Given the description of an element on the screen output the (x, y) to click on. 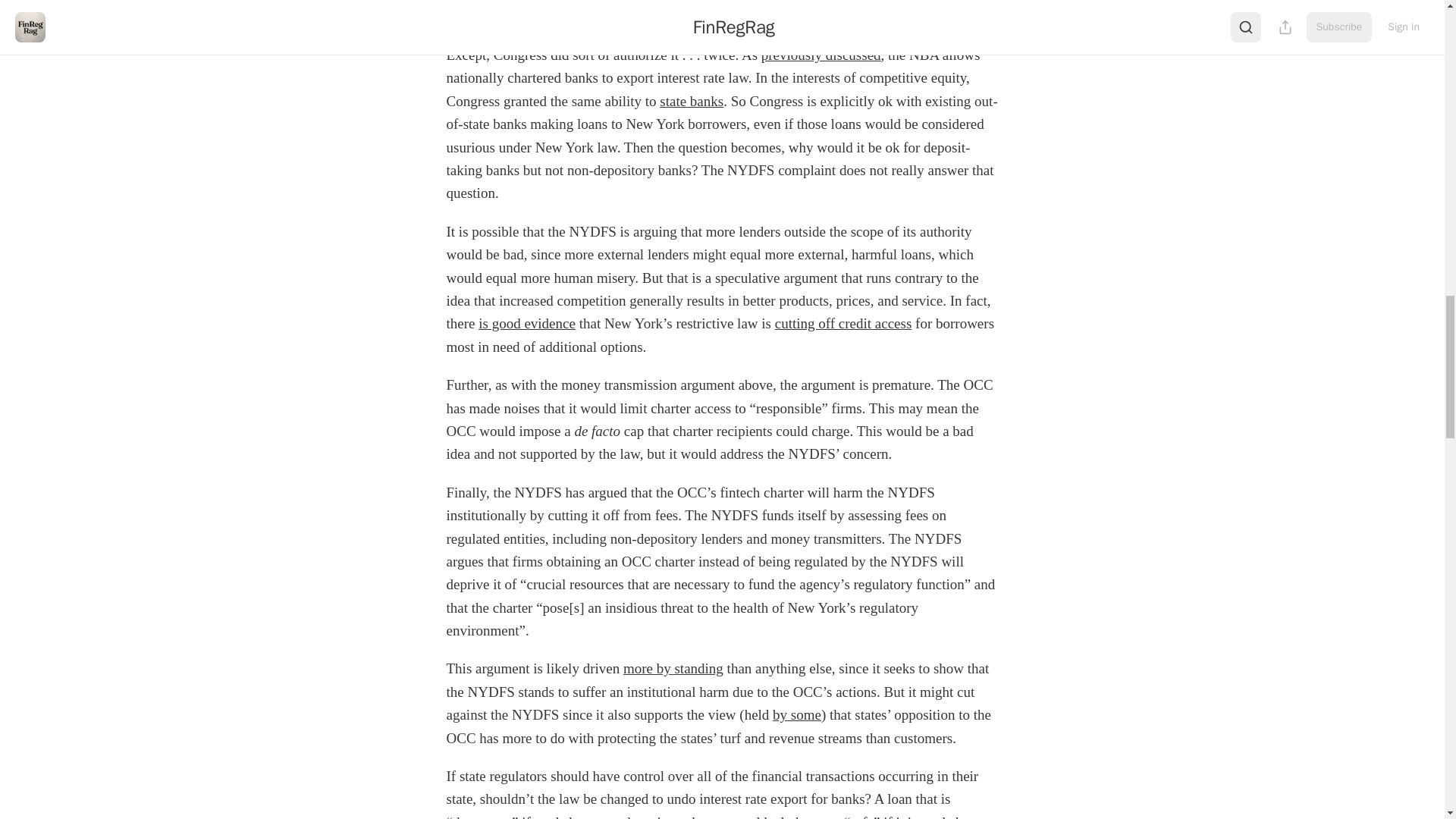
state banks (691, 100)
more by standing (673, 668)
previously discussed (820, 54)
cutting off credit access (843, 323)
is good evidence (527, 323)
by some (797, 714)
